Given the description of an element on the screen output the (x, y) to click on. 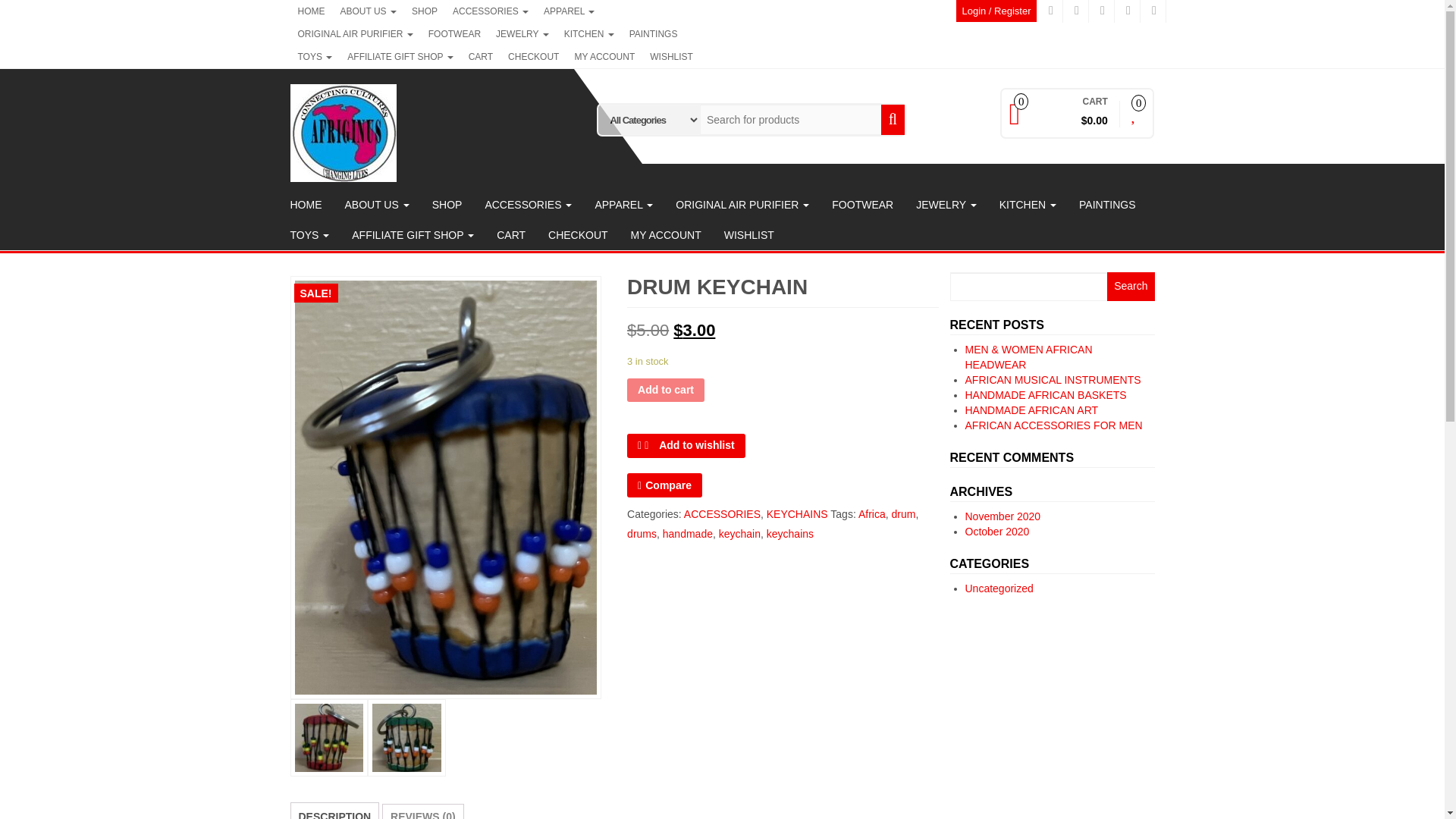
JEWELRY (521, 33)
ACCESSORIES (490, 11)
HOME (310, 11)
ABOUT US (367, 11)
SHOP (424, 11)
HOME (310, 11)
Search (1130, 286)
SHOP (424, 11)
ORIGINAL AIR PURIFIER (354, 33)
FOOTWEAR (453, 33)
ABOUT US (367, 11)
APPAREL (568, 11)
ACCESSORIES (490, 11)
